Given the description of an element on the screen output the (x, y) to click on. 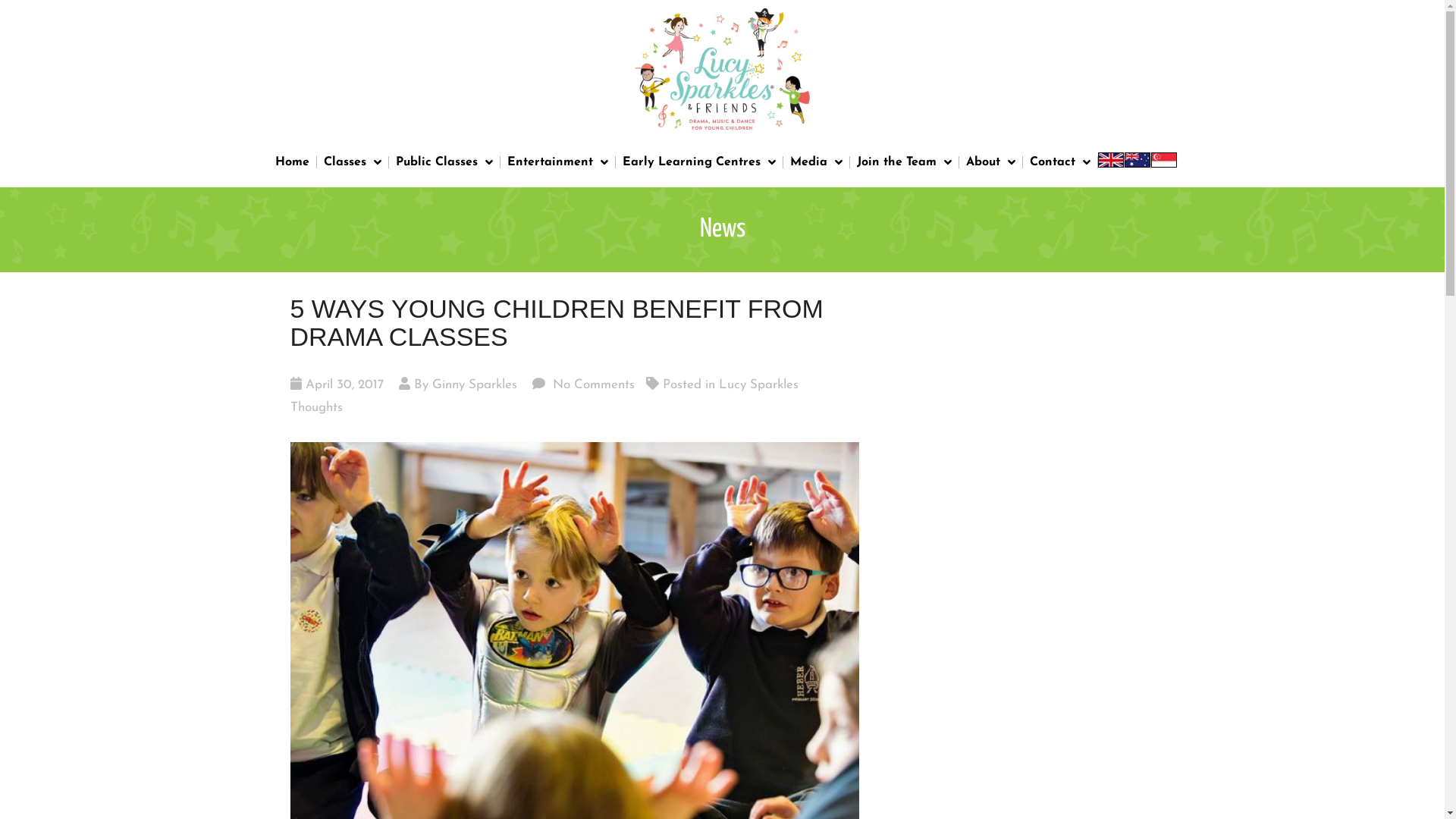
About Element type: text (989, 161)
Australia Element type: text (1136, 162)
logo-400h-1.jpg Element type: hover (721, 68)
Public Classes Element type: text (443, 161)
Lucy Sparkles Thoughts Element type: text (543, 396)
No Comments Element type: text (591, 384)
Classes Element type: text (352, 161)
Home Element type: text (292, 161)
Singapore Element type: text (1163, 162)
Entertainment Element type: text (557, 161)
Early Learning Centres Element type: text (698, 161)
Contact Element type: text (1059, 161)
Media Element type: text (815, 161)
Join the Team Element type: text (903, 161)
UK Element type: text (1110, 162)
